Given the description of an element on the screen output the (x, y) to click on. 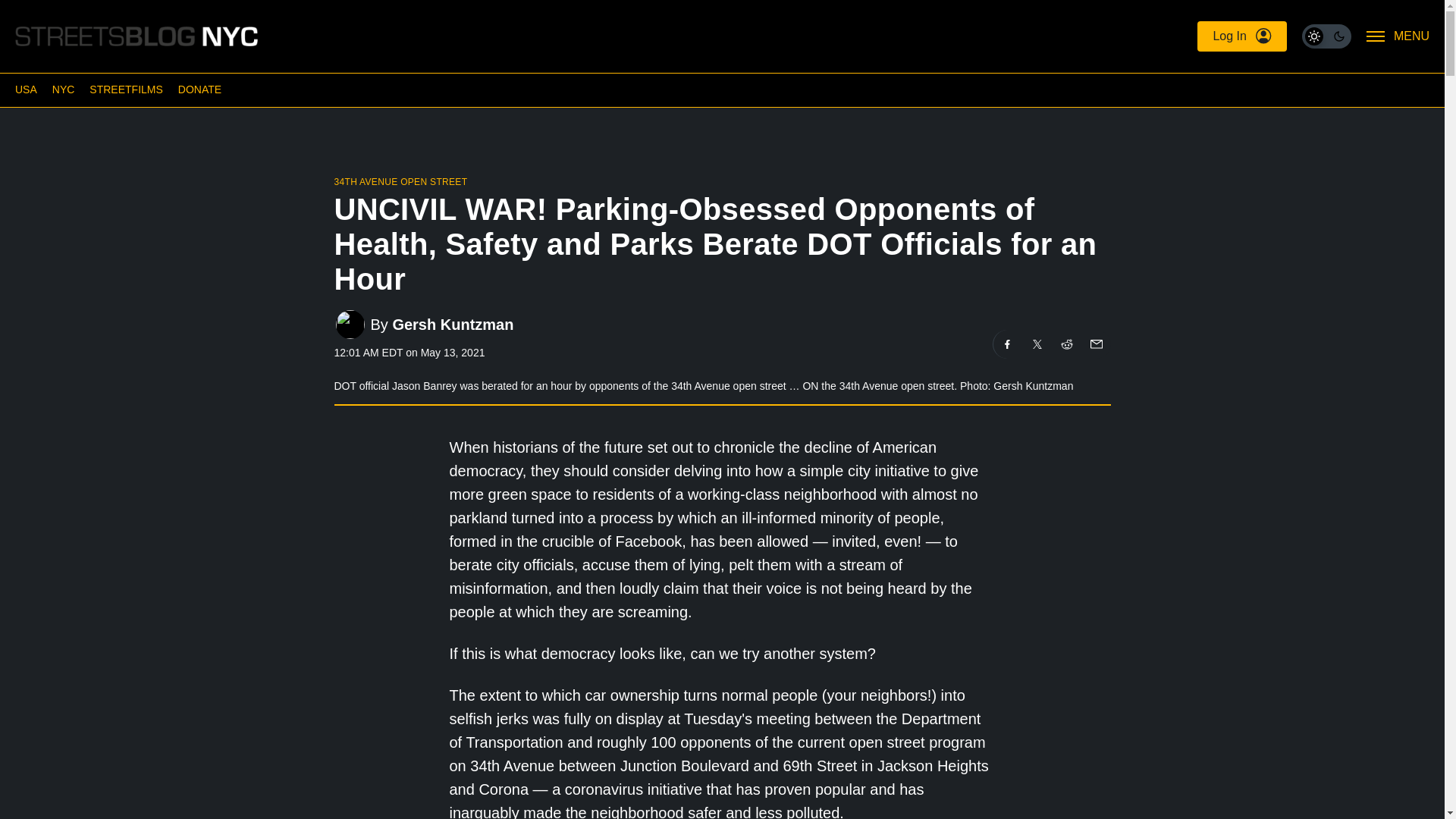
DONATE (199, 89)
made the neighborhood safer (621, 811)
Share on Facebook (1007, 344)
NYC (63, 89)
MENU (1398, 36)
Share on Email (1095, 344)
USA (25, 89)
Share on Reddit (1066, 344)
Log In (1240, 36)
Gersh Kuntzman (452, 323)
